Given the description of an element on the screen output the (x, y) to click on. 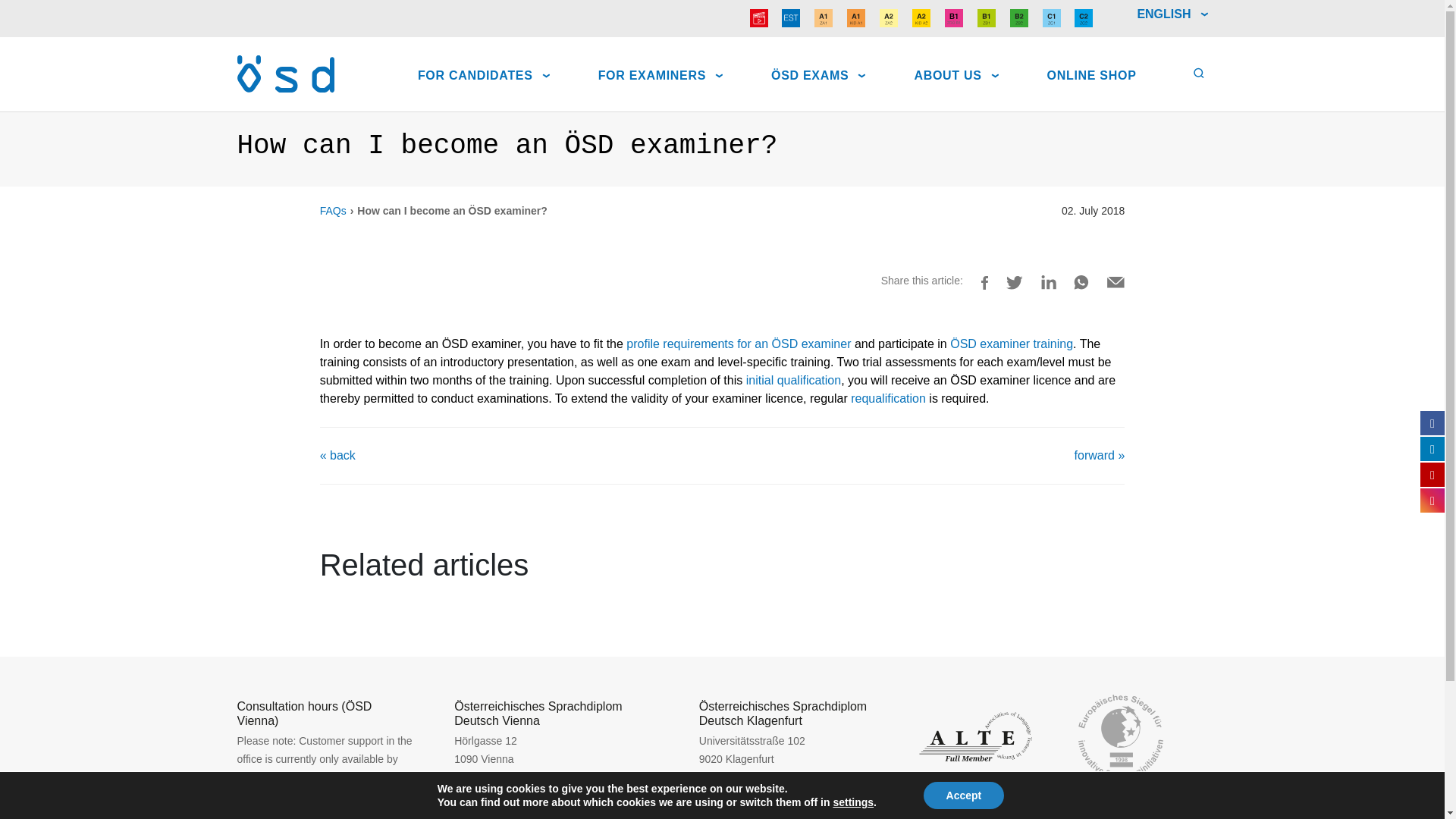
English (1172, 21)
ENGLISH (1172, 21)
FOR EXAMINERS (660, 74)
FAQs (333, 210)
ABOUT US (955, 74)
FOR CANDIDATES (483, 74)
